Given the description of an element on the screen output the (x, y) to click on. 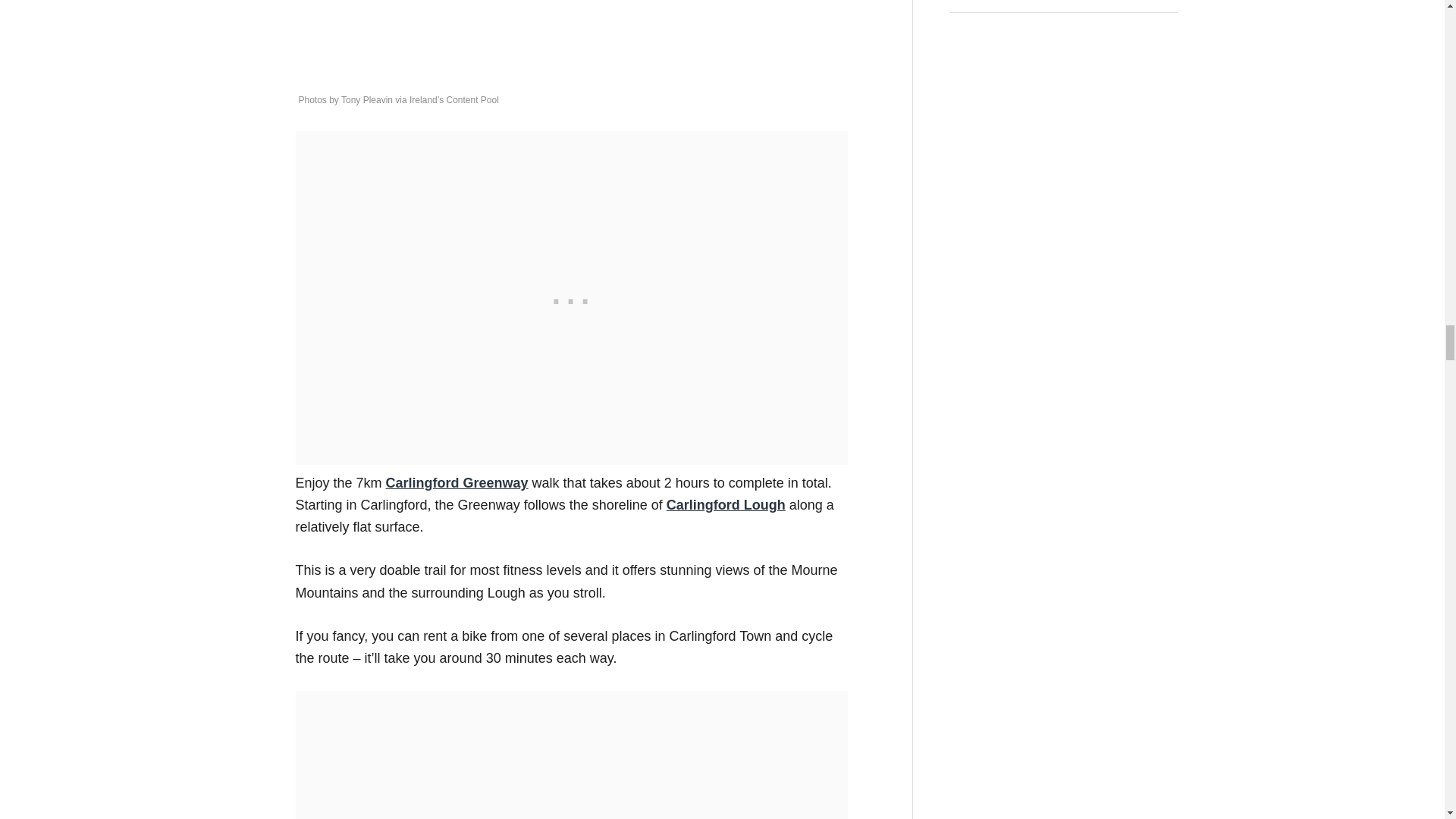
Carlingford Greenway (456, 482)
Carlingford Lough (726, 504)
